Given the description of an element on the screen output the (x, y) to click on. 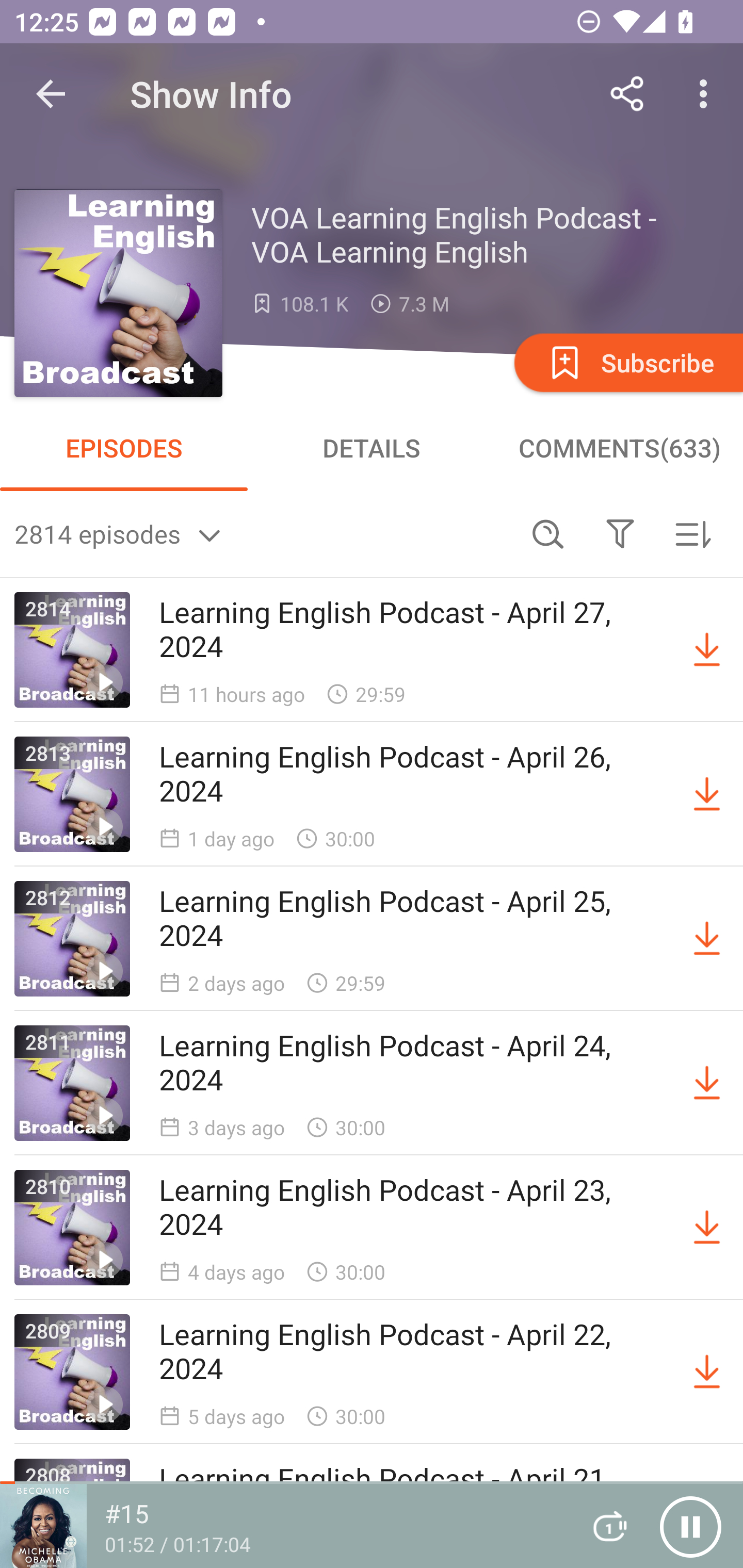
Navigate up (50, 93)
Share (626, 93)
More options (706, 93)
Subscribe (627, 361)
EPISODES (123, 447)
DETAILS (371, 447)
COMMENTS(633) (619, 447)
2814 episodes  (262, 533)
 Search (547, 533)
 (619, 533)
 Sorted by newest first (692, 533)
Download (706, 649)
Download (706, 793)
Download (706, 939)
Download (706, 1083)
Download (706, 1227)
Download (706, 1371)
#15 01:52 / 01:17:04 (283, 1525)
Pause (690, 1526)
